Given the description of an element on the screen output the (x, y) to click on. 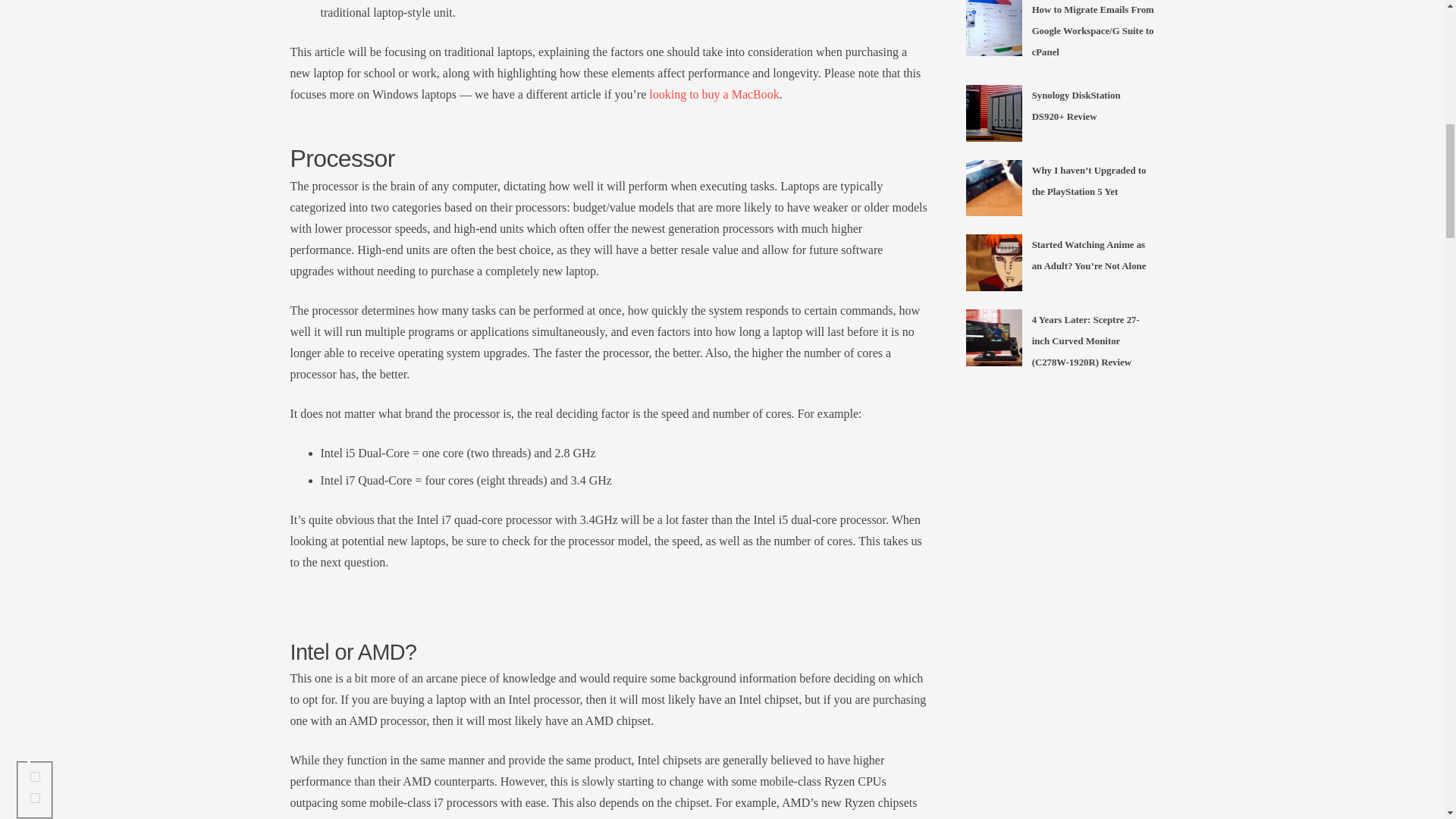
looking to buy a MacBook (713, 93)
